Given the description of an element on the screen output the (x, y) to click on. 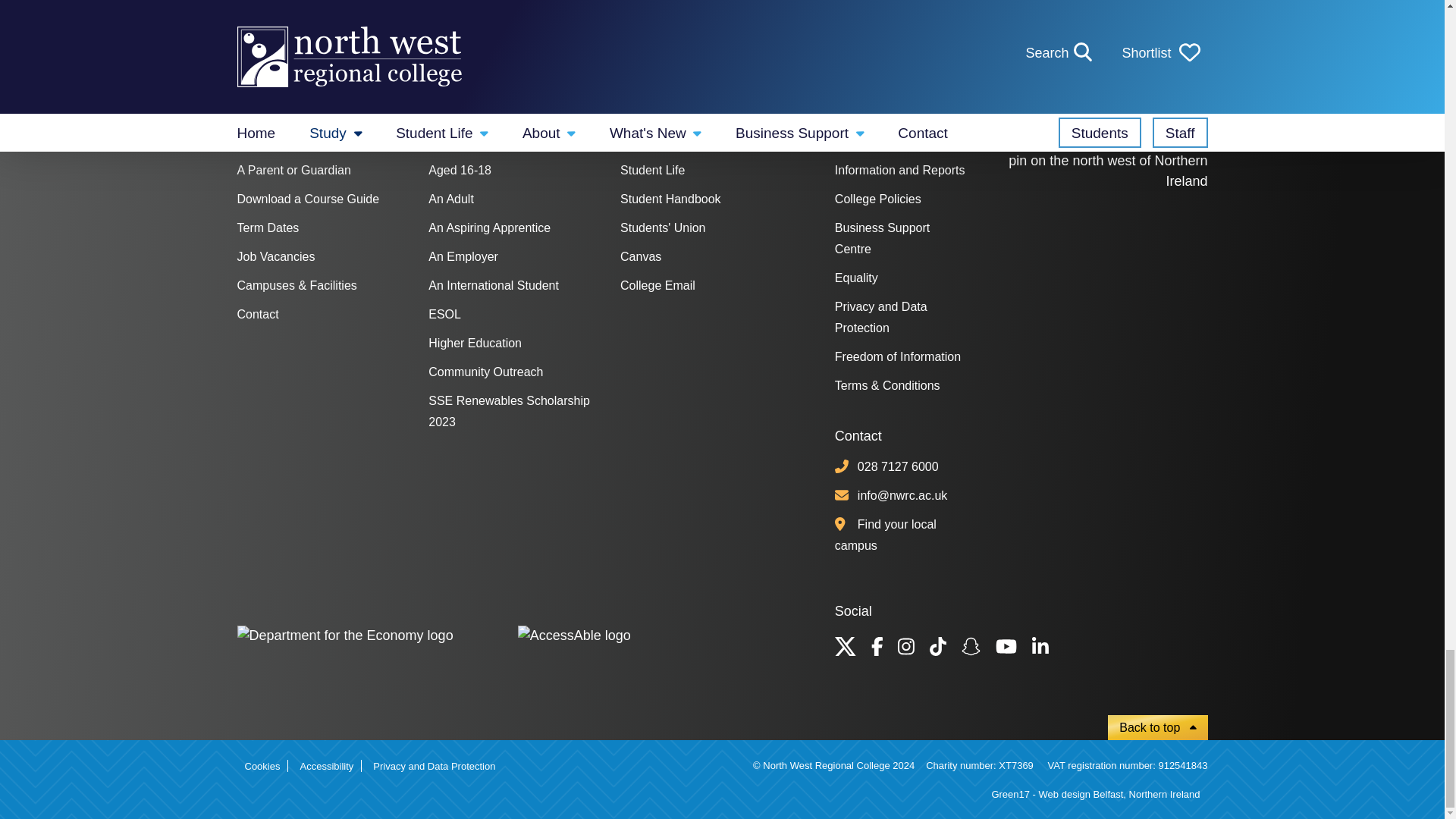
Back to top (1157, 727)
